Given the description of an element on the screen output the (x, y) to click on. 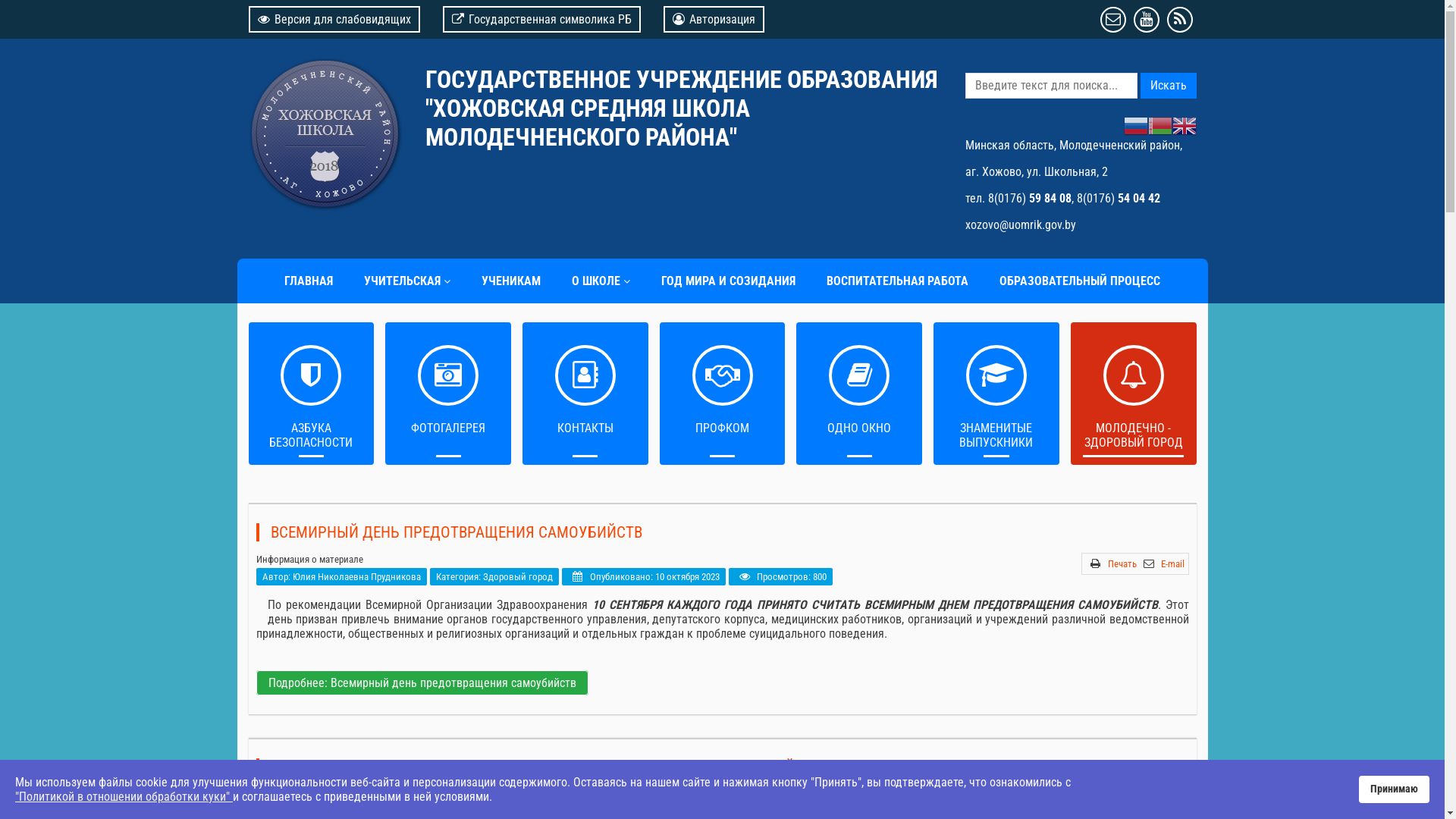
E-mail Element type: text (1171, 563)
xozovo@uomrik.gov.by Element type: text (1019, 224)
E-mail Element type: text (1171, 798)
8(0176) 54 04 42 Element type: text (1118, 198)
8(0176) 59 84 08 Element type: text (1028, 198)
English Element type: hover (1184, 124)
